Given the description of an element on the screen output the (x, y) to click on. 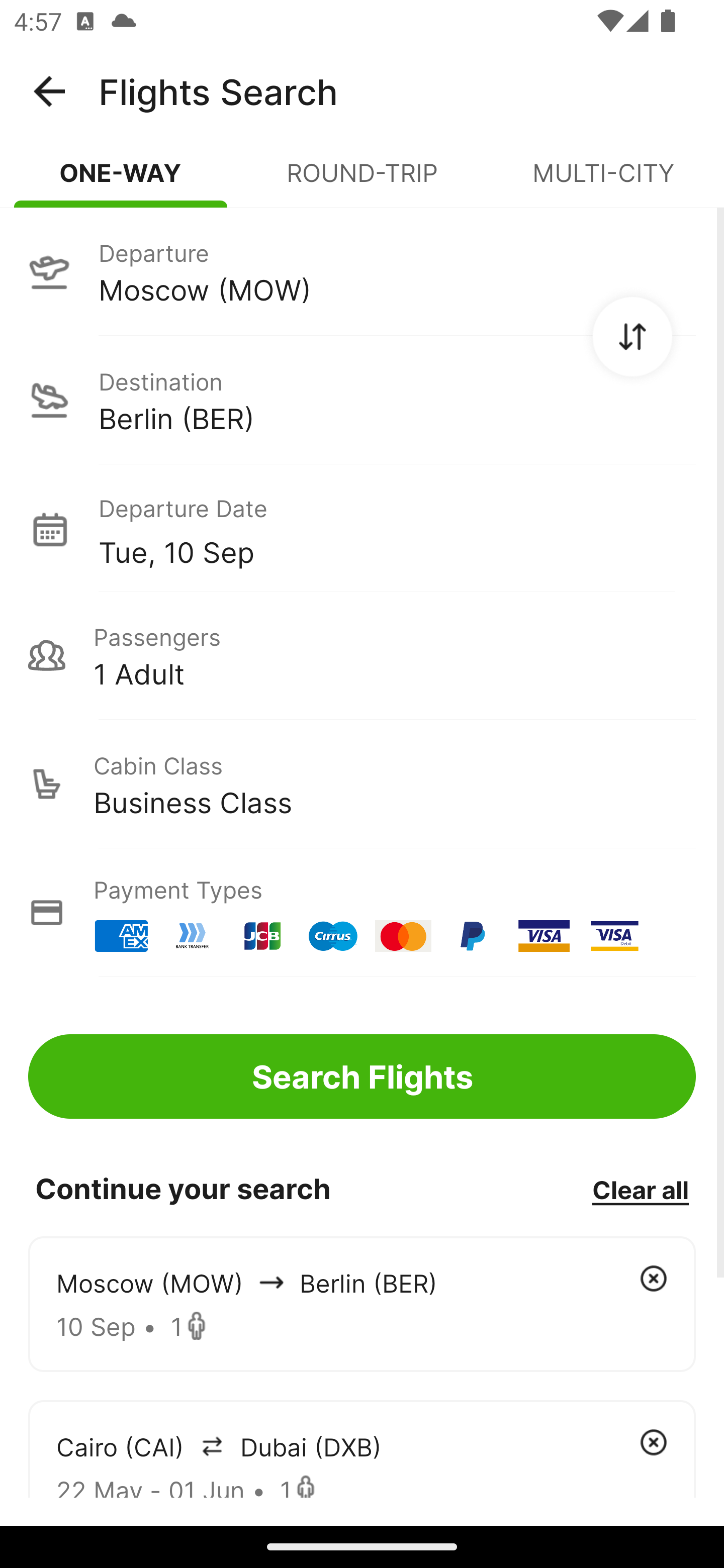
ONE-WAY (120, 180)
ROUND-TRIP (361, 180)
MULTI-CITY (603, 180)
Departure Moscow (MOW) (362, 270)
Destination Berlin (BER) (362, 400)
Departure Date Tue, 10 Sep (396, 528)
Passengers 1 Adult (362, 655)
Cabin Class Business Class (362, 783)
Payment Types (362, 912)
Search Flights (361, 1075)
Clear all (640, 1189)
Moscow (MOW)  arrowIcon  Berlin (BER) 10 Sep •  1  (361, 1303)
